Given the description of an element on the screen output the (x, y) to click on. 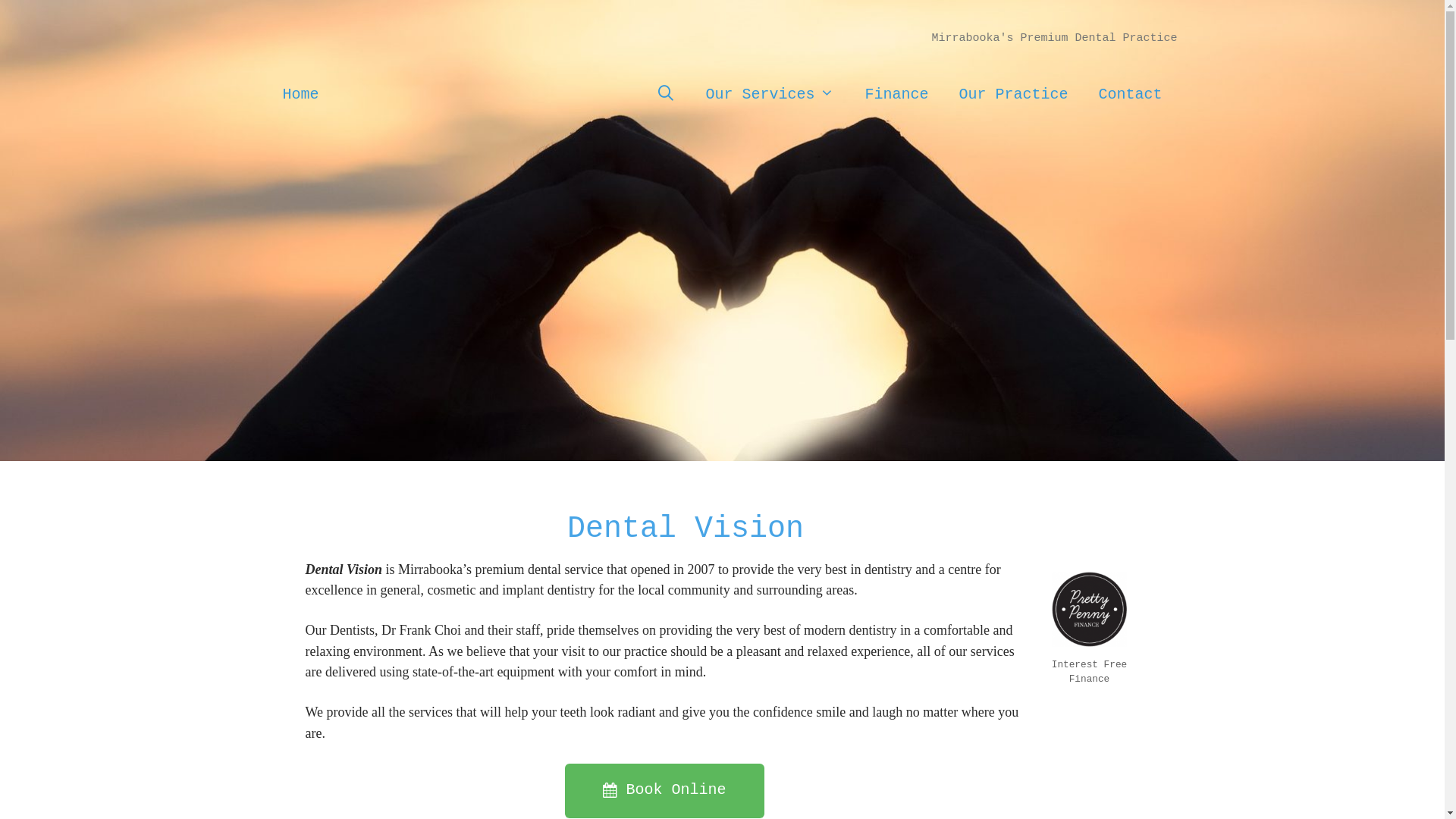
Home Element type: text (299, 93)
Contact Element type: text (1129, 93)
Our Services Element type: text (769, 93)
Finance Element type: text (896, 93)
Our Practice Element type: text (1012, 93)
Book Online Element type: text (663, 789)
